Given the description of an element on the screen output the (x, y) to click on. 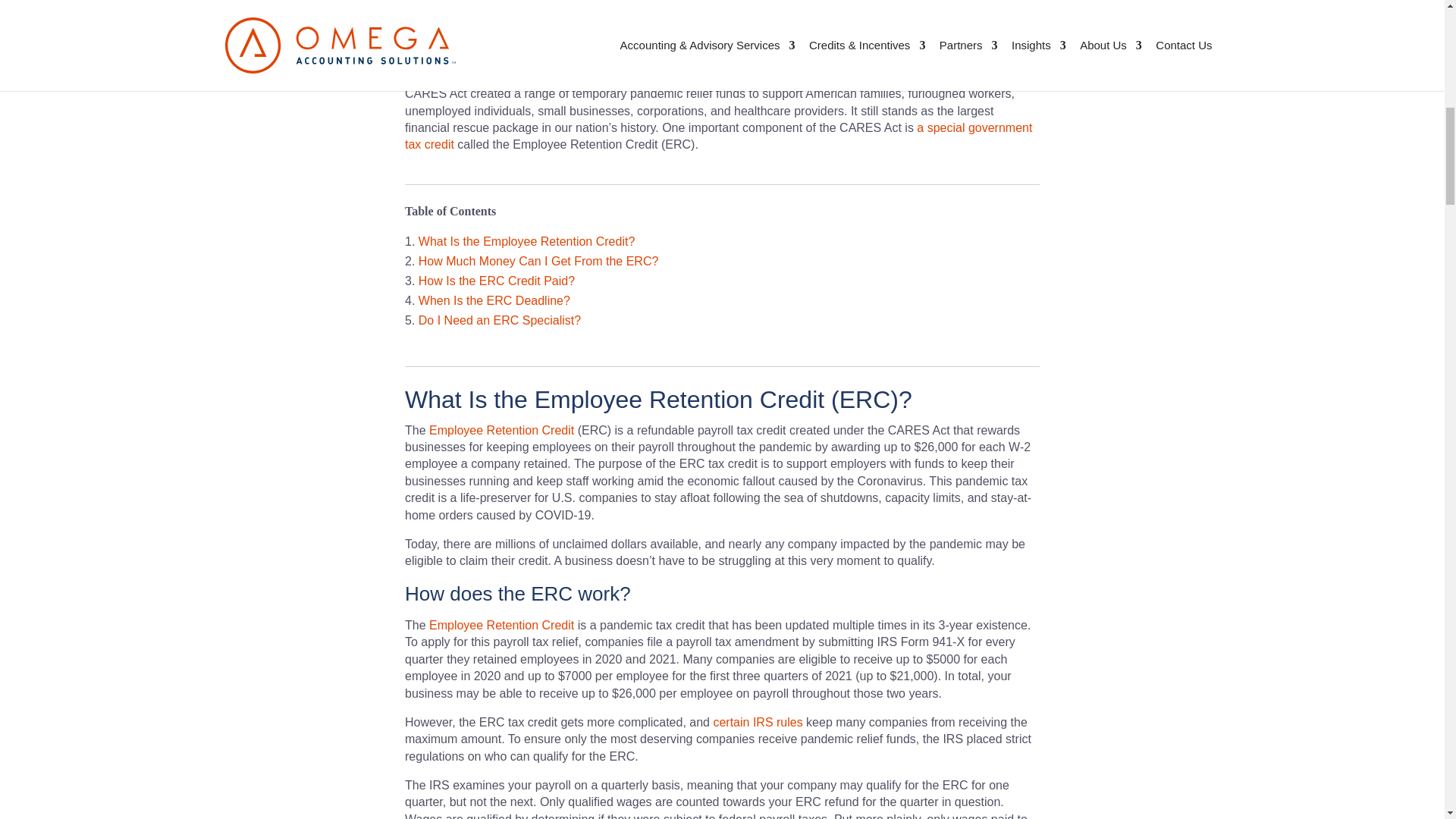
Employee Retention Credit (501, 625)
How Is the ERC Credit Paid? (497, 280)
certain IRS rules (757, 721)
What Is the Employee Retention Credit? (526, 241)
How Much Money Can I Get From the ERC? (539, 260)
Employee Retention Credit (501, 430)
Do I Need an ERC Specialist? (499, 319)
a special government tax credit (718, 135)
When Is the ERC Deadline? (494, 300)
